Given the description of an element on the screen output the (x, y) to click on. 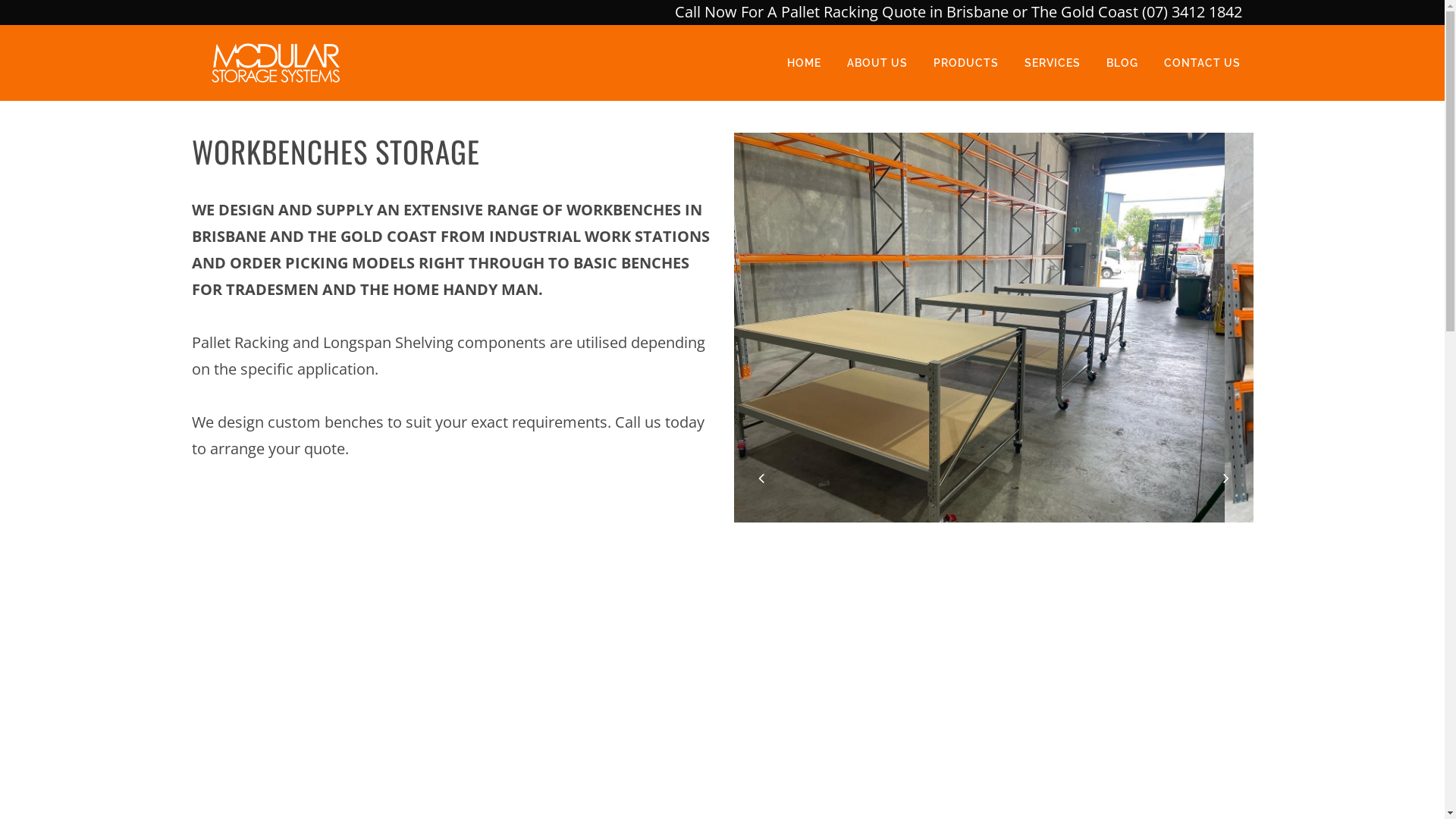
CONTACT US Element type: text (1202, 62)
ABOUT US Element type: text (877, 62)
SERVICES Element type: text (1052, 62)
BLOG Element type: text (1122, 62)
PRODUCTS Element type: text (965, 62)
HOME Element type: text (803, 62)
